Given the description of an element on the screen output the (x, y) to click on. 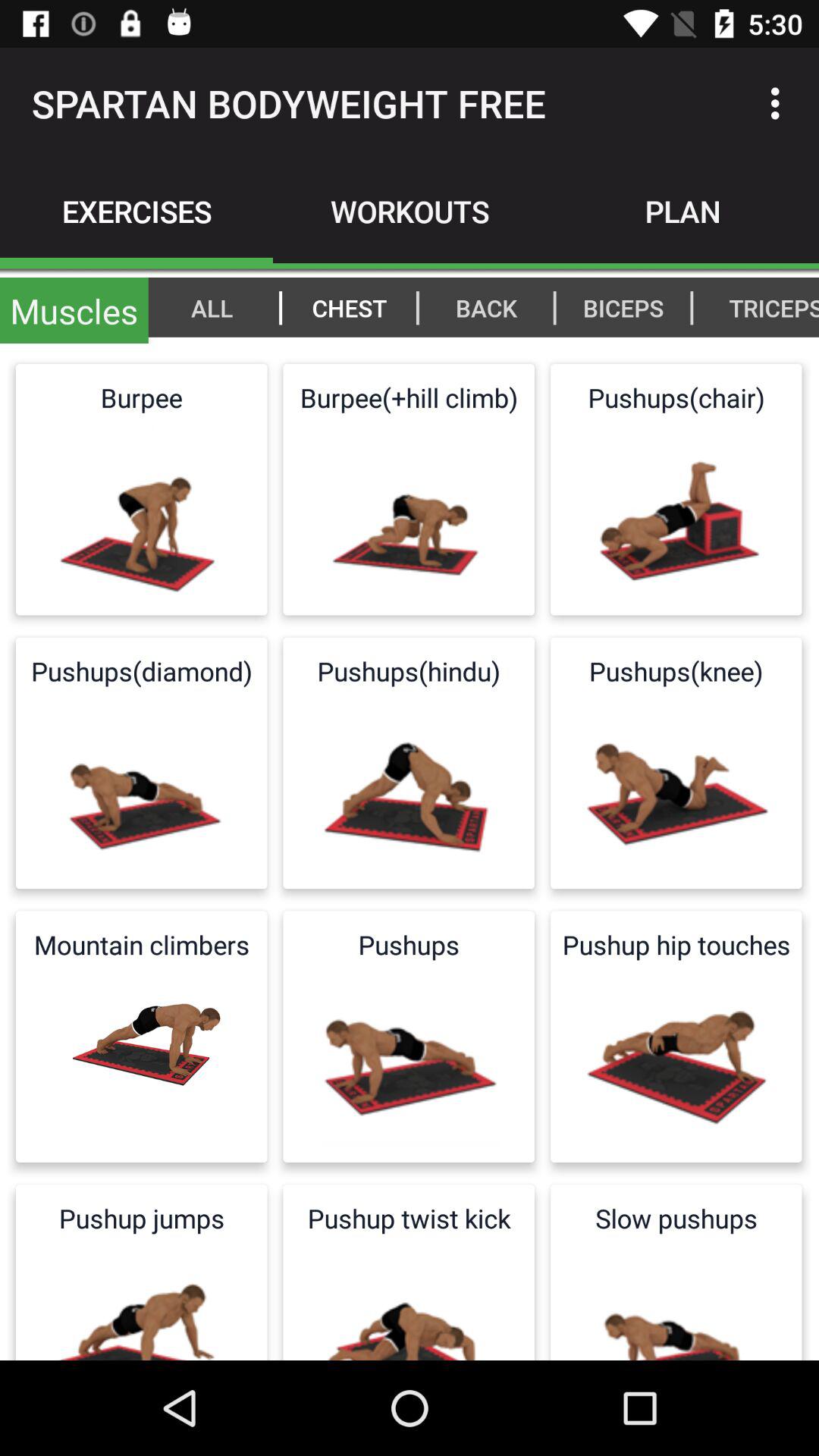
press icon above the plan (779, 103)
